Given the description of an element on the screen output the (x, y) to click on. 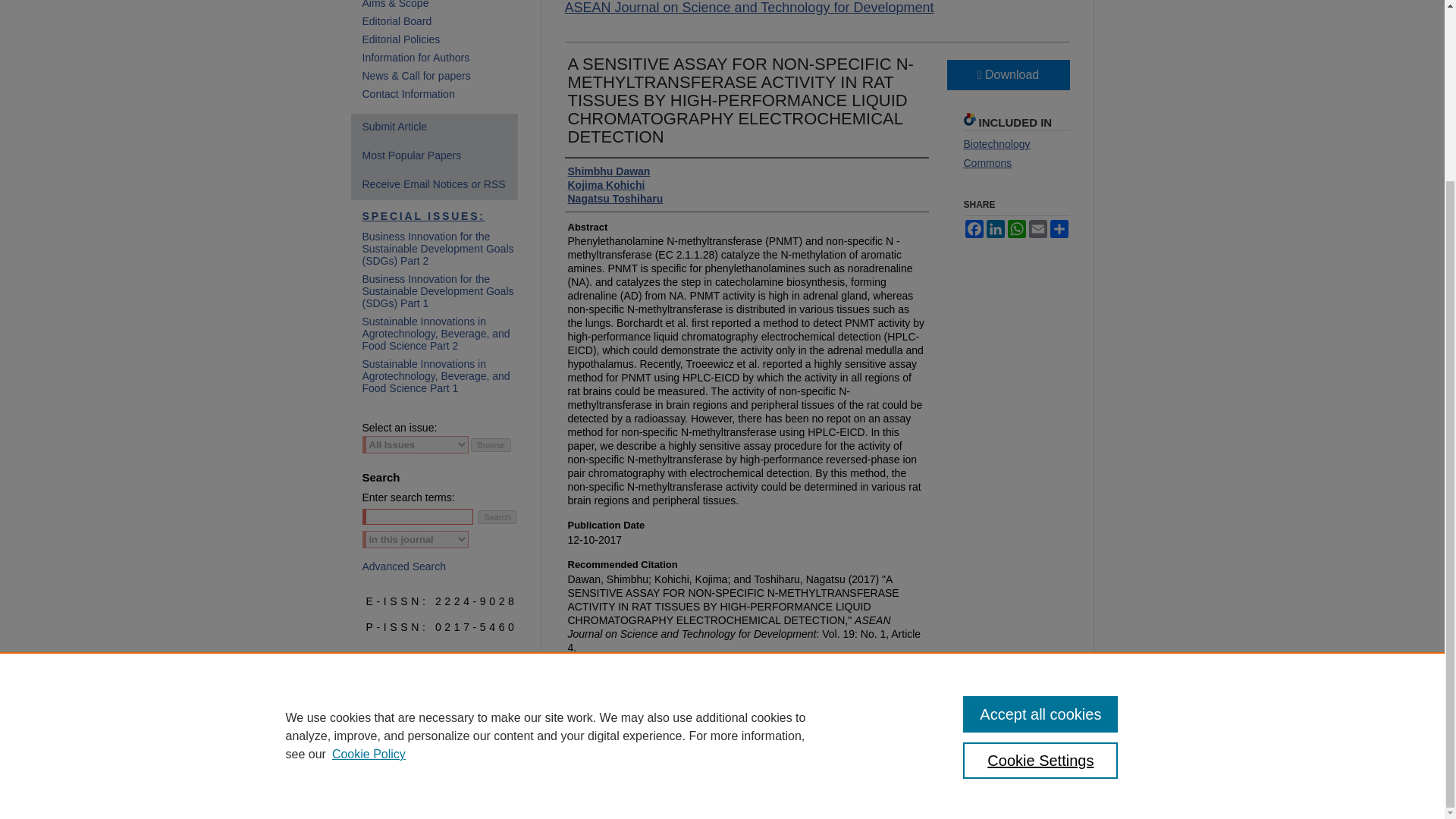
Search (496, 517)
WhatsApp (1016, 229)
ASEAN Journal on Science and Technology for Development (748, 7)
Kojima Kohichi (606, 184)
Email (1037, 229)
Information for Authors (447, 57)
LinkedIn (995, 229)
Browse (490, 445)
Facebook (973, 229)
Editorial Board (447, 21)
Biotechnology Commons (995, 153)
Browse (490, 445)
Nagatsu Toshiharu (614, 198)
